Given the description of an element on the screen output the (x, y) to click on. 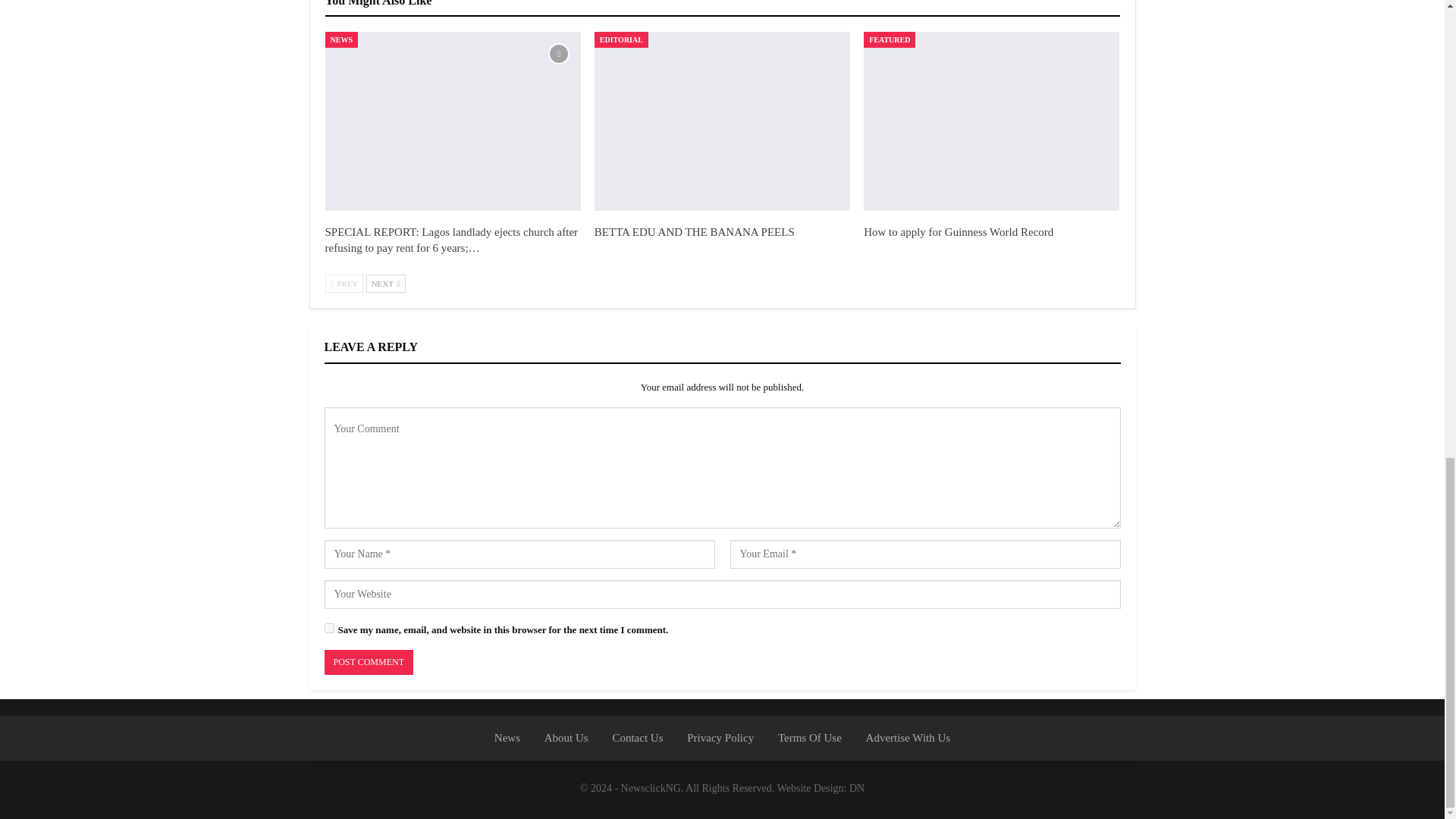
NEWS (340, 39)
How to apply for Guinness World Record (991, 120)
Previous (343, 283)
Next (386, 283)
You Might Also Like (377, 3)
BETTA EDU AND THE BANANA PEELS (722, 120)
BETTA EDU AND THE BANANA PEELS (694, 232)
yes (329, 628)
How to apply for Guinness World Record (957, 232)
Post Comment (368, 662)
